Given the description of an element on the screen output the (x, y) to click on. 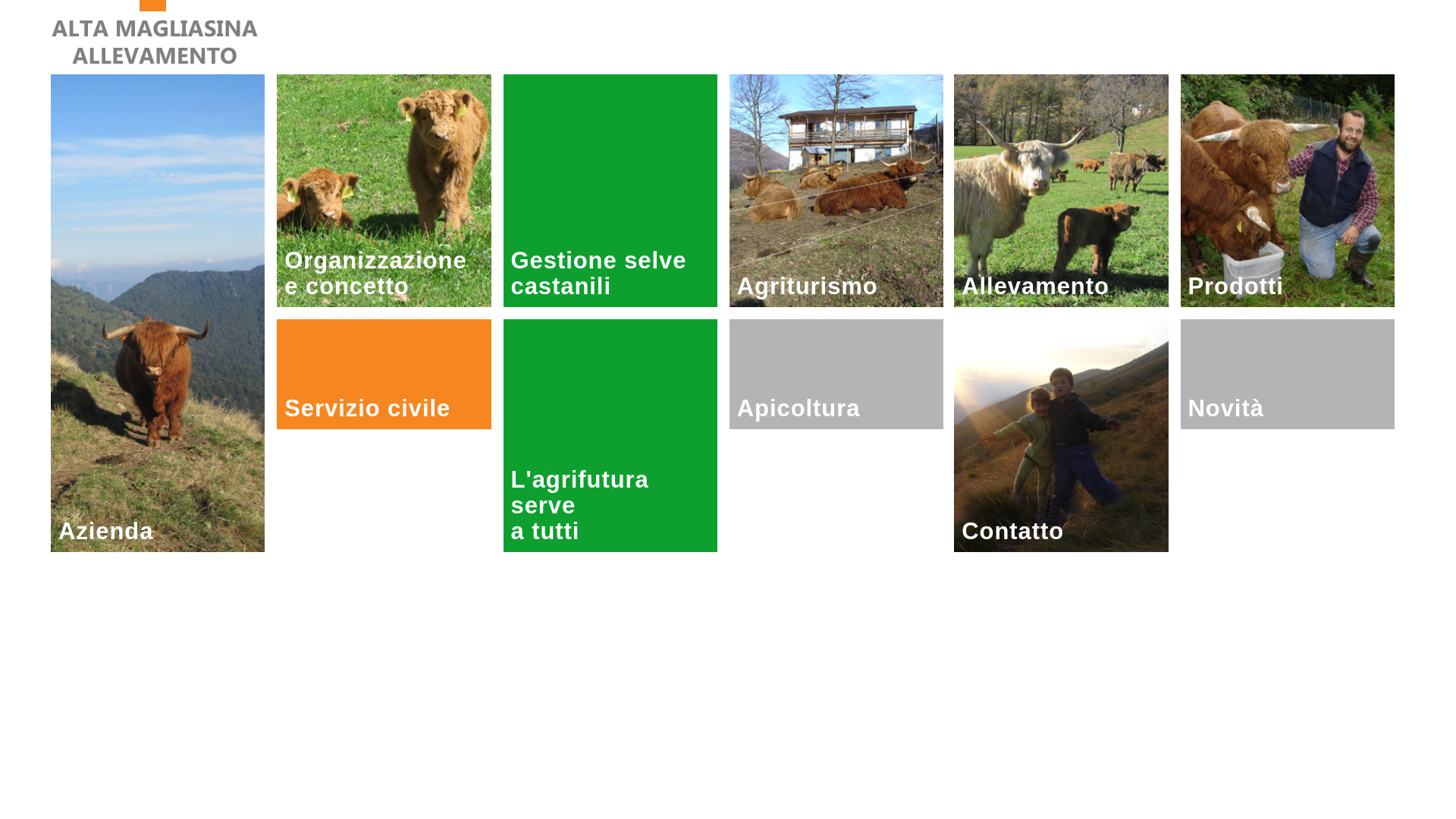
Contatto Element type: text (1060, 435)
Apicoltura Element type: text (836, 374)
L'agrifutura
serve
a tutti Element type: text (610, 435)
Prodotti Element type: text (1287, 190)
Servizio civile Element type: text (383, 374)
Organizzazione
e concetto Element type: text (383, 190)
Gestione selve
castanili Element type: text (610, 190)
Allevamento Element type: text (1060, 190)
Azienda Element type: text (157, 313)
Agriturismo Element type: text (836, 190)
